Given the description of an element on the screen output the (x, y) to click on. 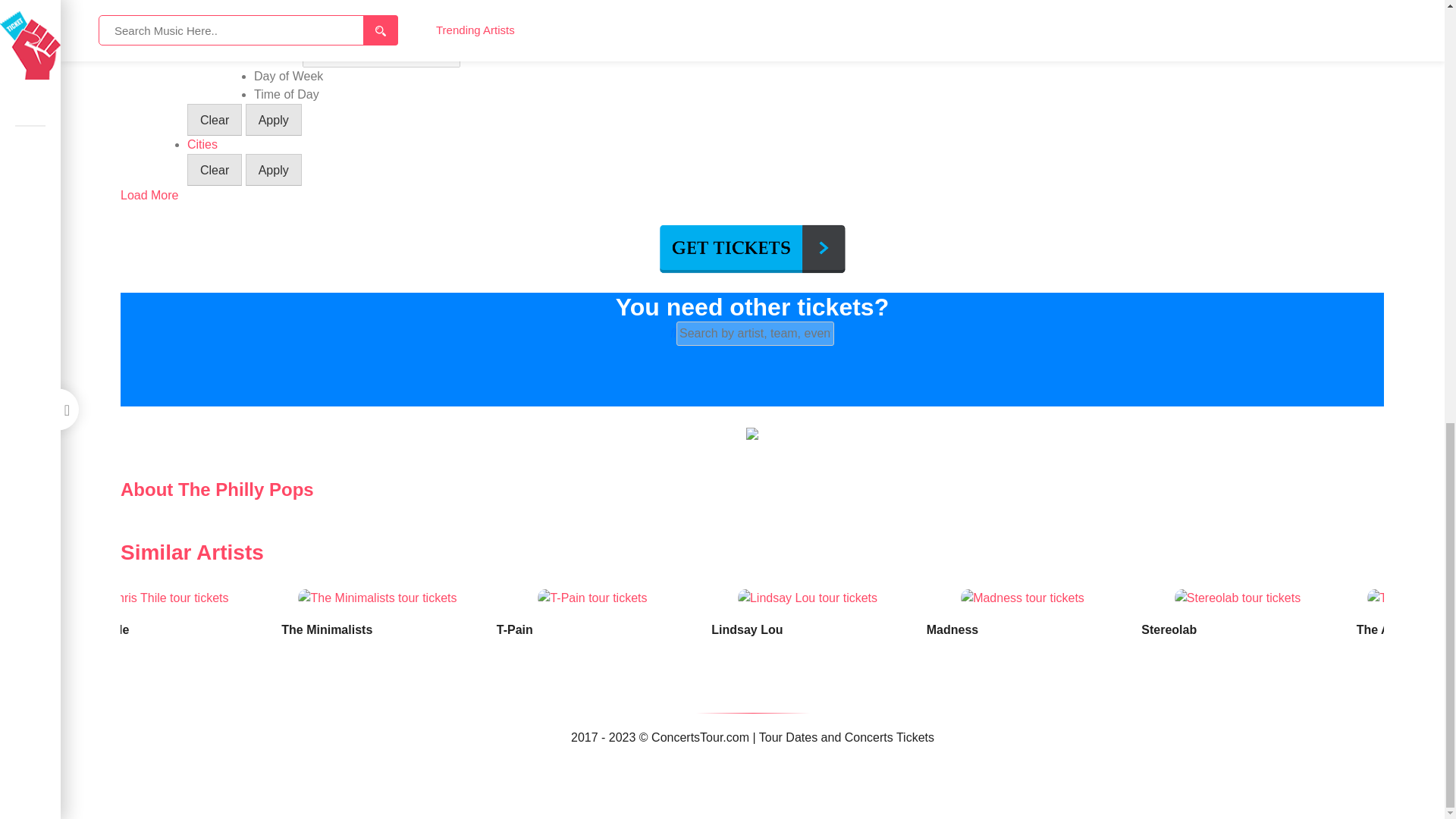
Apply (273, 169)
Apply (273, 119)
You need other tickets? (752, 306)
Cities (201, 144)
Load More (149, 195)
Clear (214, 169)
Clear (214, 119)
